Given the description of an element on the screen output the (x, y) to click on. 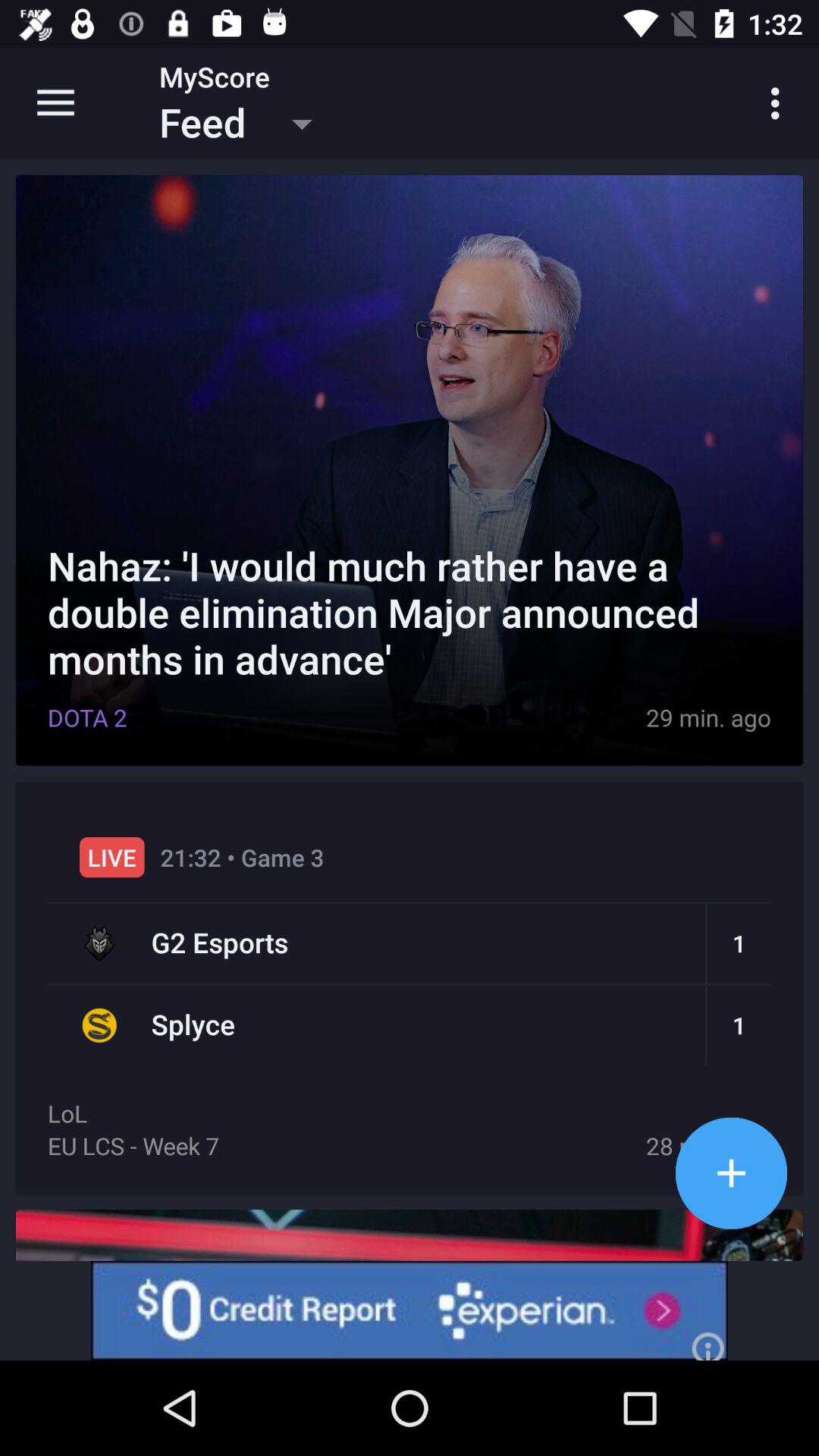
know about the advertisement (409, 1310)
